Given the description of an element on the screen output the (x, y) to click on. 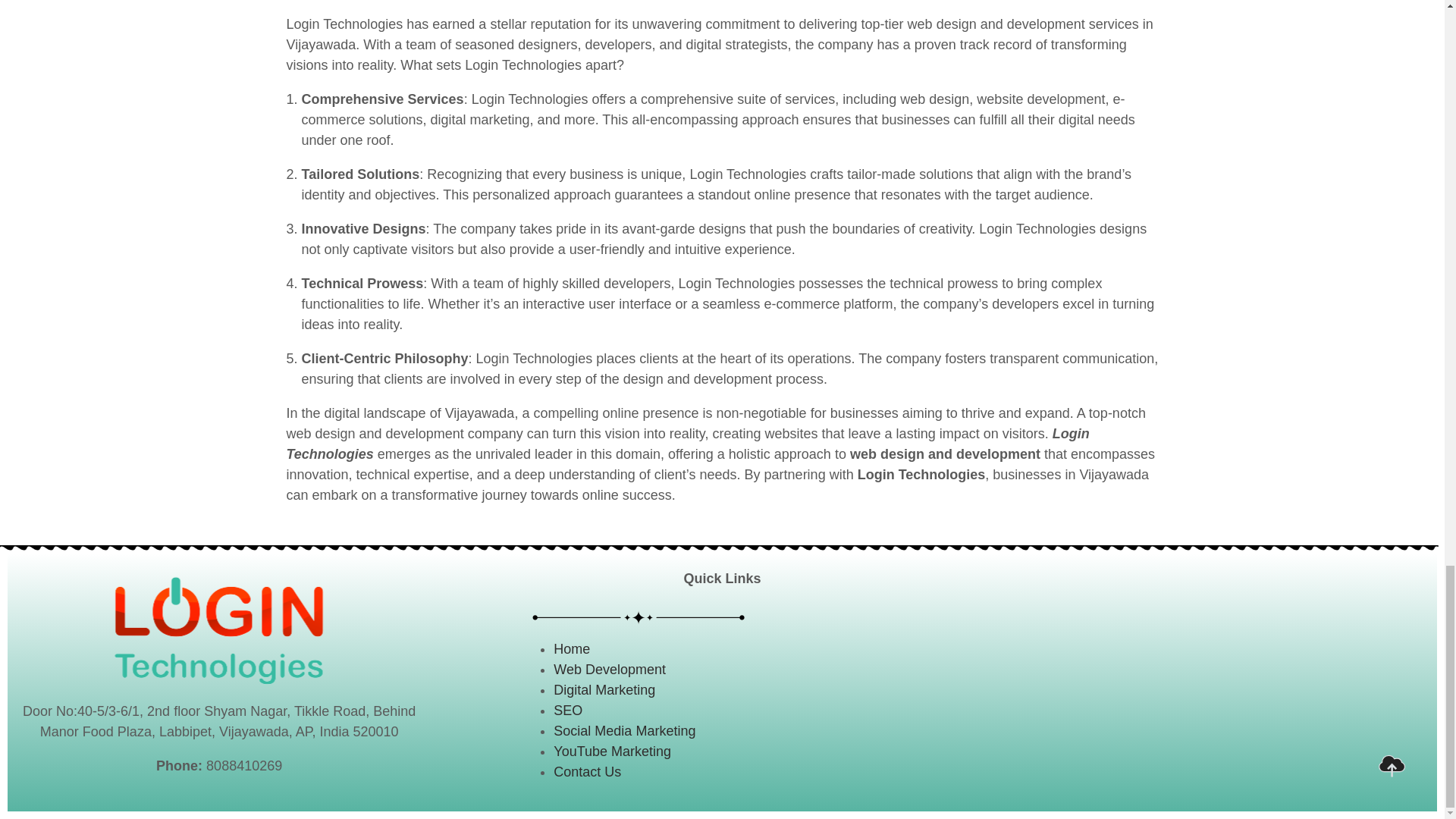
Home (571, 648)
Web Development (609, 669)
YouTube Marketing (612, 751)
Social Media Marketing (624, 730)
Digital Marketing (604, 689)
Login Technologies, Vijayawada (1225, 682)
Contact Us (587, 771)
SEO (567, 710)
